Given the description of an element on the screen output the (x, y) to click on. 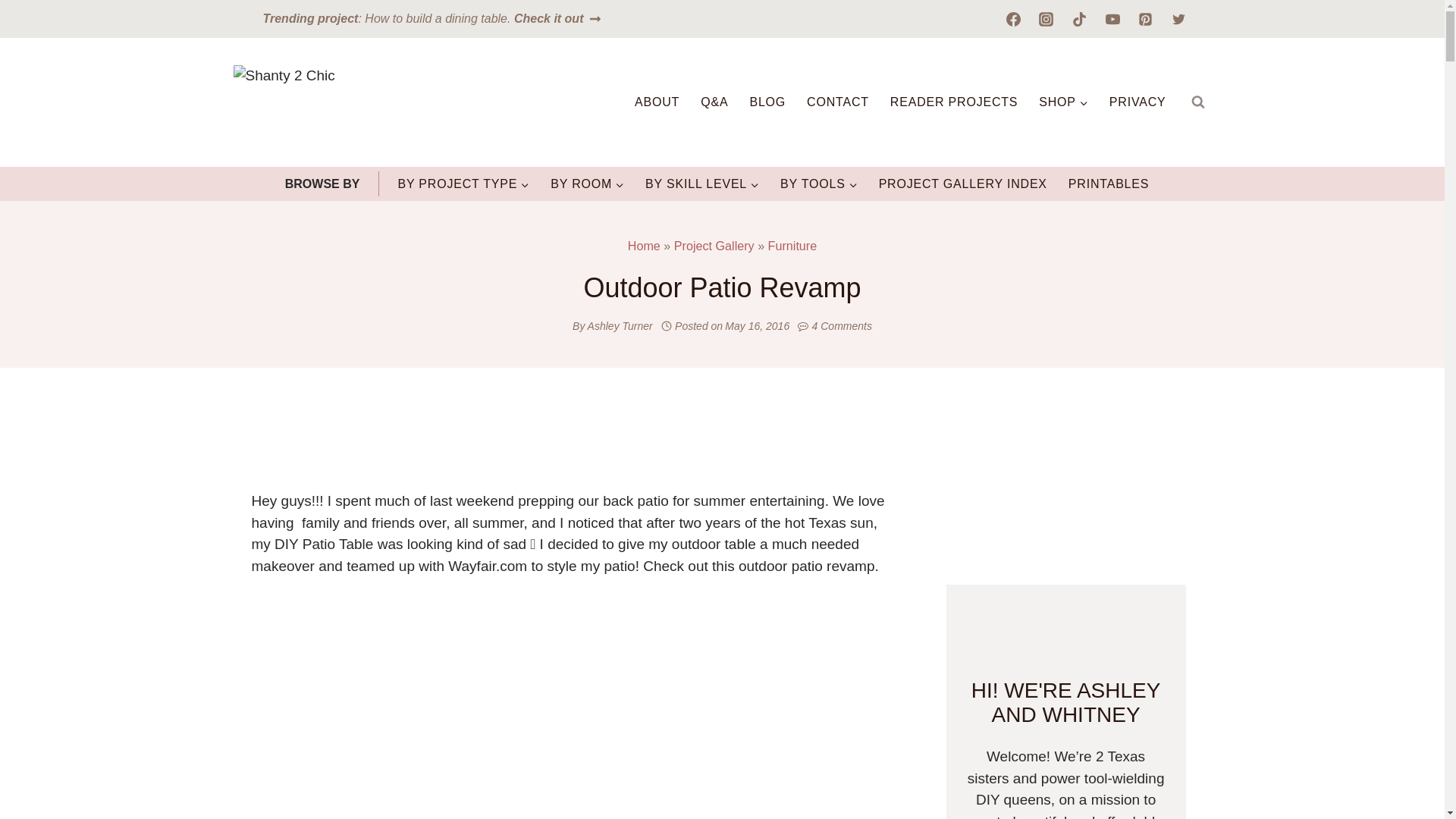
BLOG (767, 101)
Trending project: How to build a dining table. Check it out (431, 18)
BY PROJECT TYPE (463, 183)
READER PROJECTS (953, 101)
SHOP (1063, 101)
BY ROOM (587, 183)
4 Comments (842, 326)
ABOUT (657, 101)
CONTACT (837, 101)
PRIVACY (1137, 101)
